Given the description of an element on the screen output the (x, y) to click on. 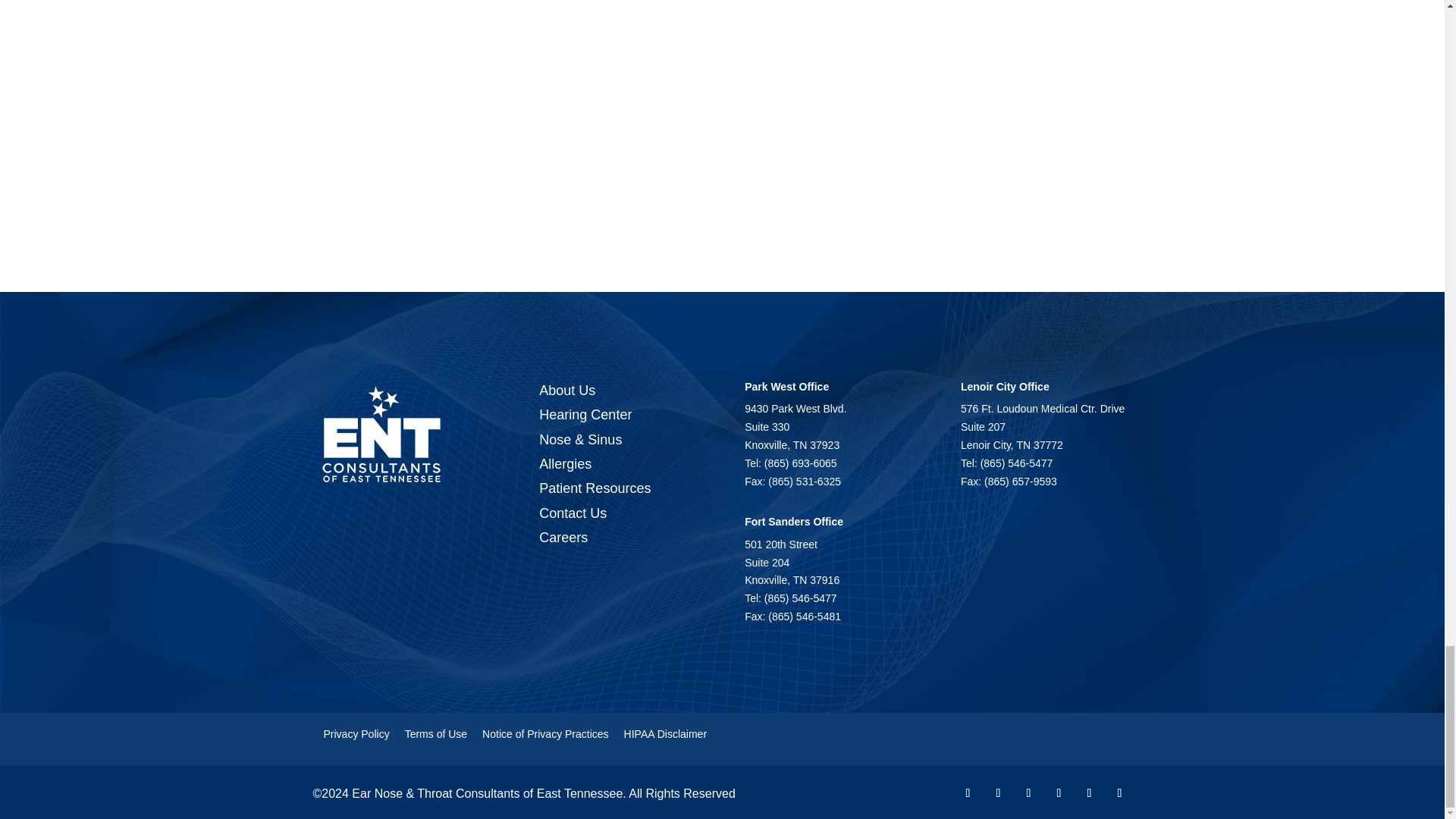
ENT-Consultants-Logo-White (380, 433)
Follow on LinkedIn (1118, 793)
Follow on Pinterest (1088, 793)
Follow on Youtube (1028, 793)
Follow on Facebook (967, 793)
Follow on X (997, 793)
Follow on Instagram (1058, 793)
